Given the description of an element on the screen output the (x, y) to click on. 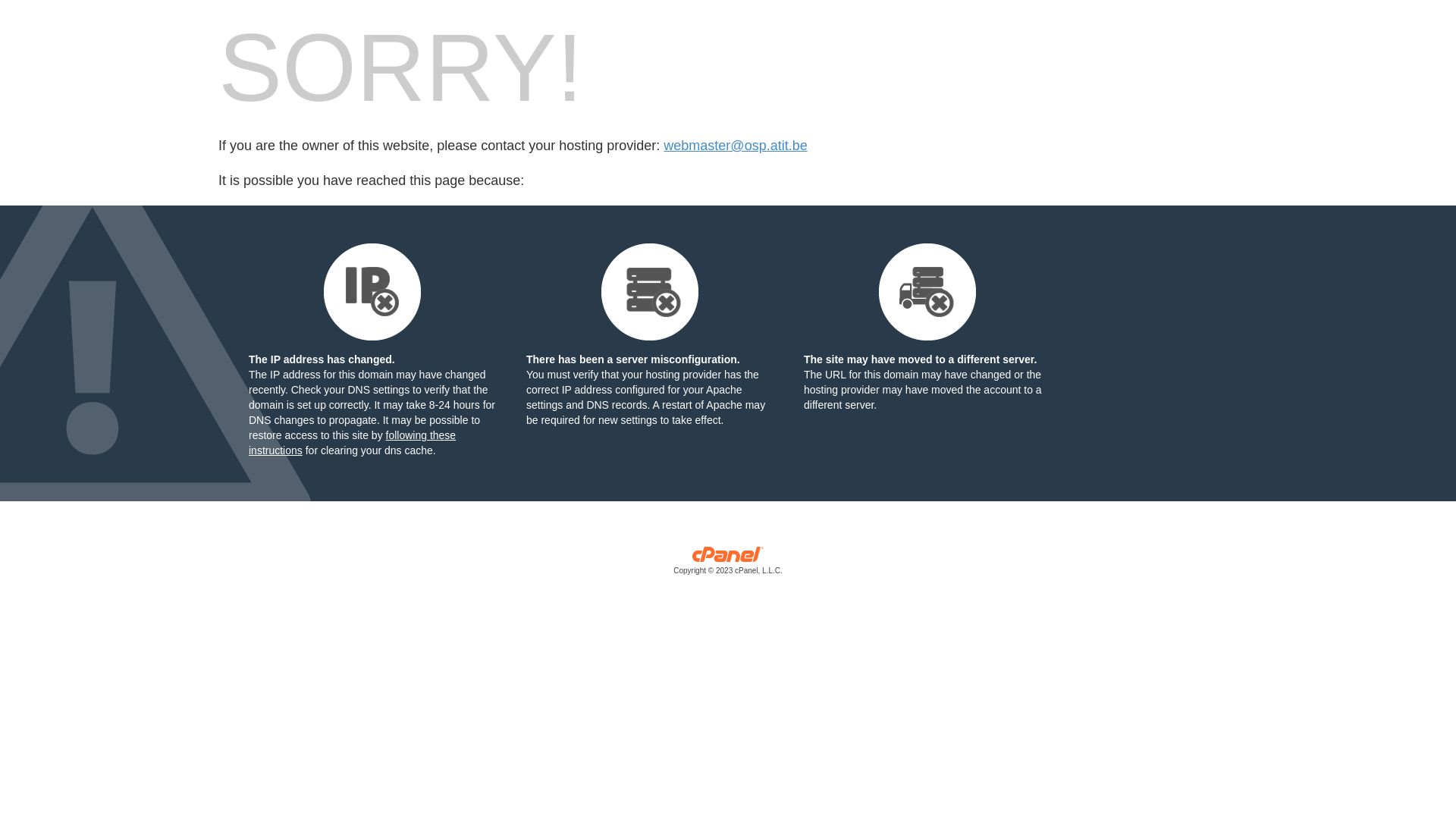
webmaster@osp.atit.be Element type: text (734, 145)
following these instructions Element type: text (351, 442)
